Given the description of an element on the screen output the (x, y) to click on. 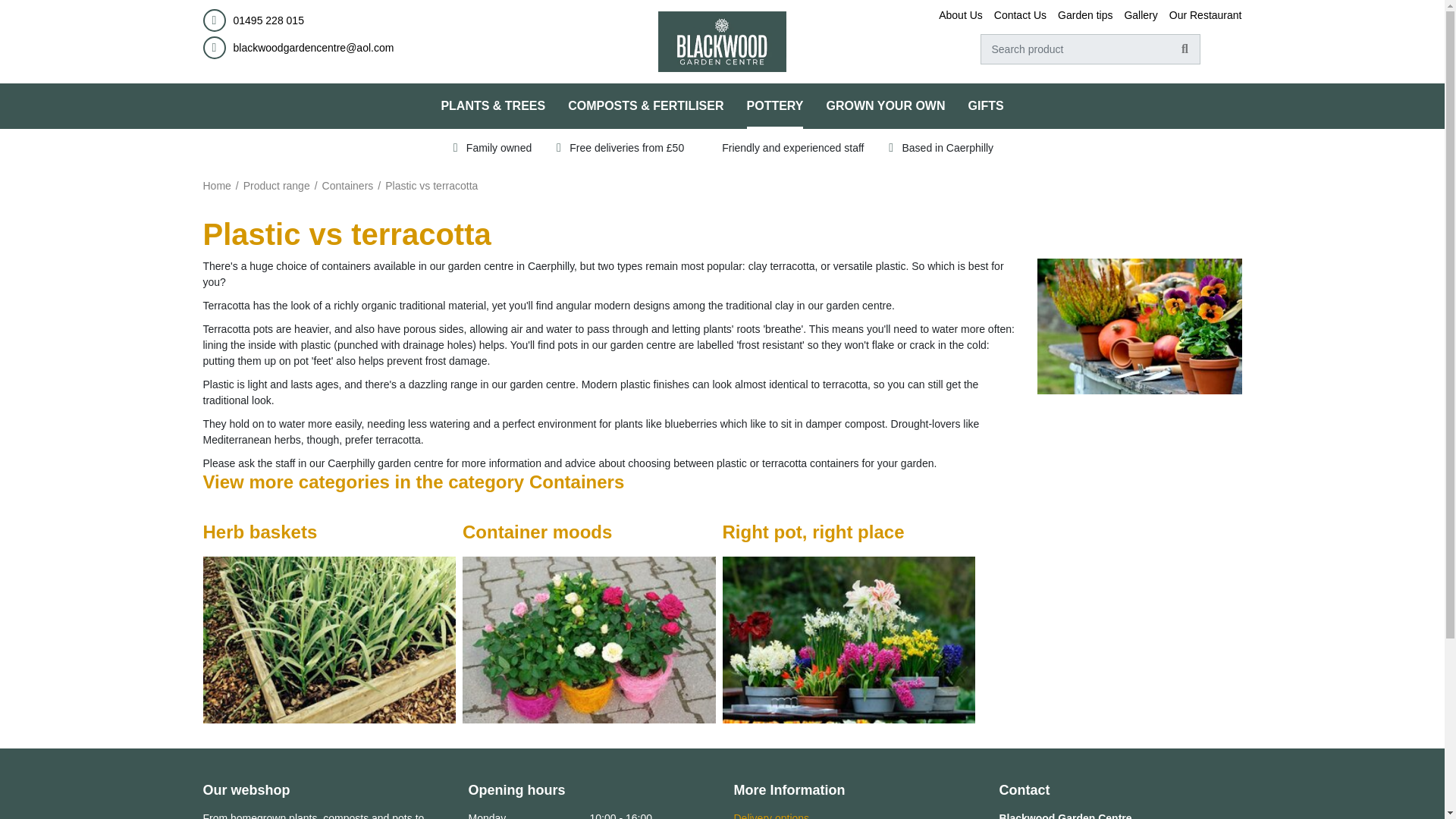
GROWN YOUR OWN (884, 105)
Plastic vs terracotta (431, 185)
01495 228 015 (268, 20)
Product range (276, 185)
Garden tips (1085, 14)
Our Restaurant (1205, 14)
Contact Us (1020, 14)
Home (217, 185)
Gallery (1140, 14)
Garden tips (1085, 14)
Contact Us (1020, 14)
Blackwood Garden Centre (722, 41)
Home (217, 185)
About Us (960, 14)
POTTERY (774, 105)
